Given the description of an element on the screen output the (x, y) to click on. 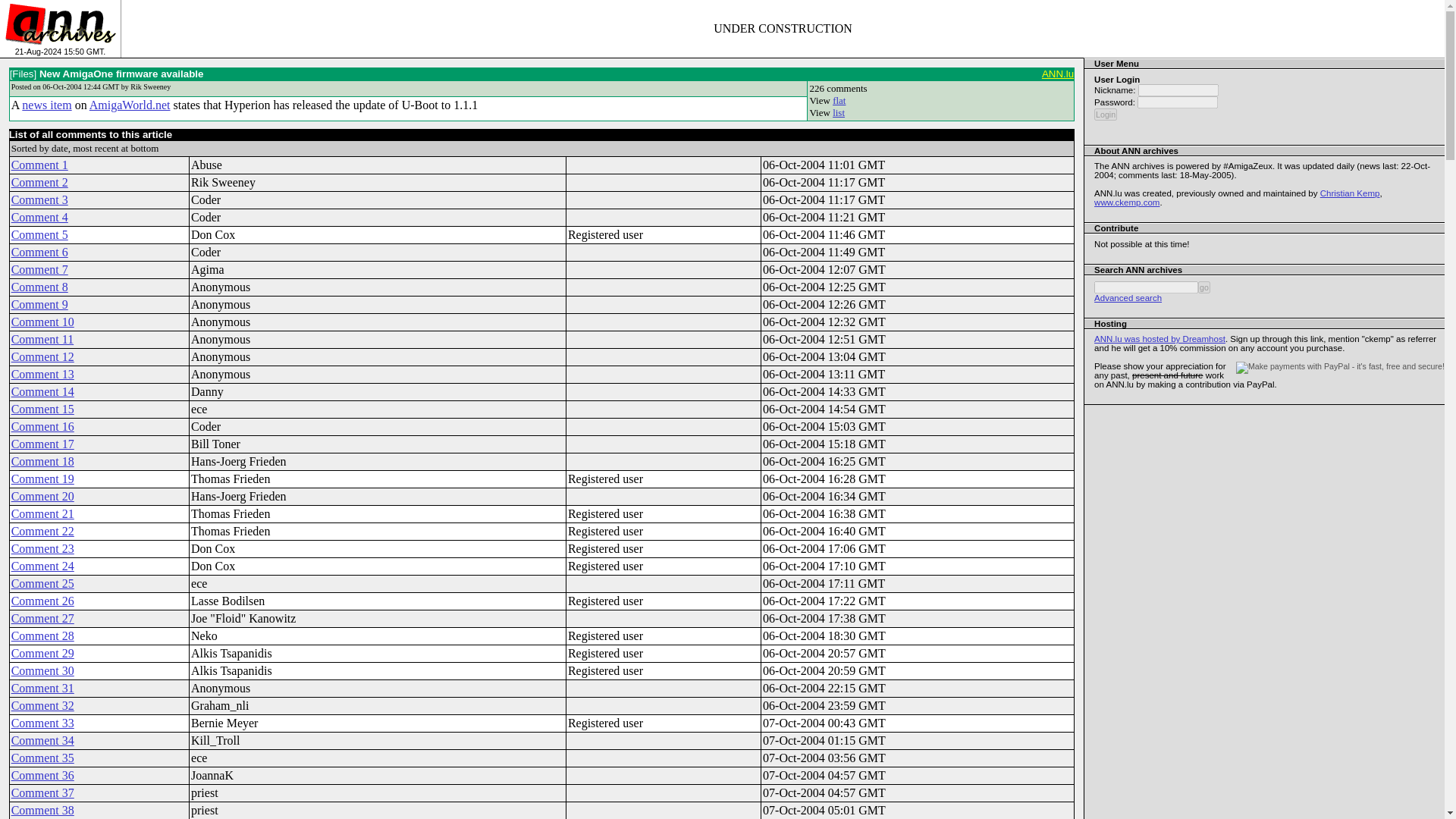
Comment 20 (42, 495)
go (1203, 287)
ANN.lu (1058, 72)
list (838, 112)
Comment 32 (42, 705)
news item (46, 104)
Comment 16 (42, 426)
Comment 3 (39, 199)
Comment 5 (39, 234)
Comment 13 (42, 373)
